Given the description of an element on the screen output the (x, y) to click on. 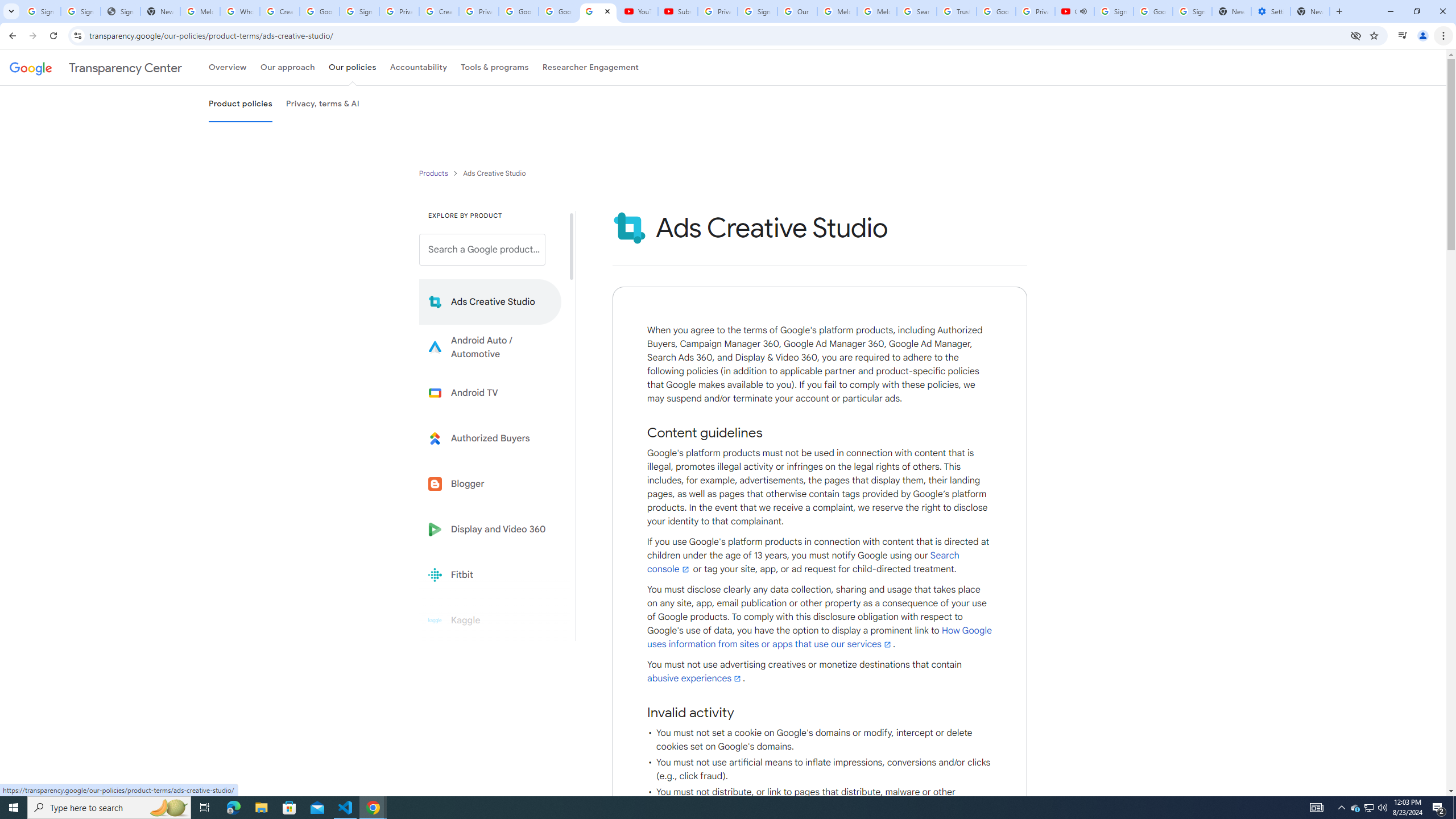
Display and Video 360 (490, 529)
Learn more about Authorized Buyers (490, 438)
Create your Google Account (279, 11)
Blogger (490, 483)
